Given the description of an element on the screen output the (x, y) to click on. 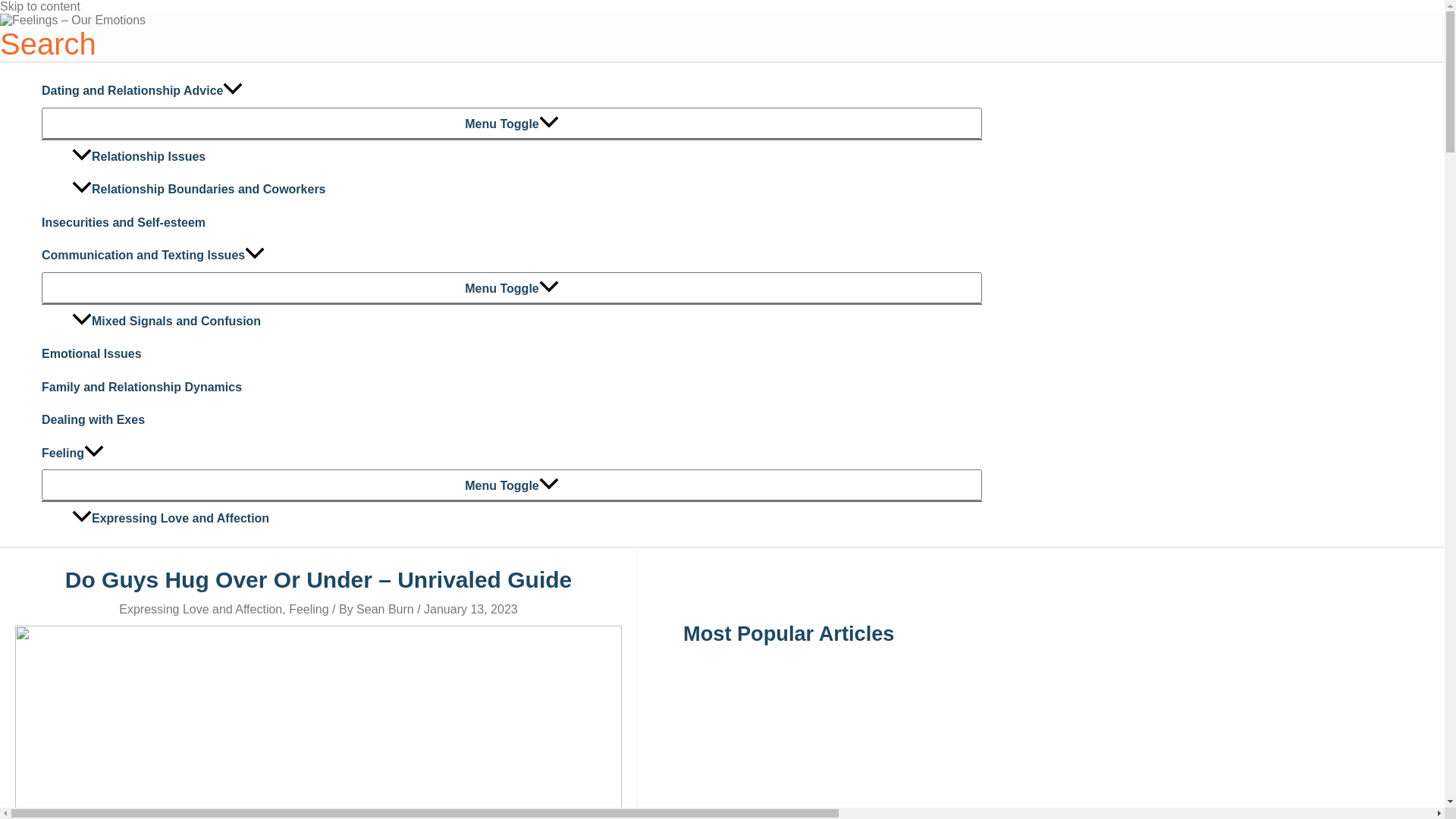
Relationship Issues (526, 156)
View all posts by Sean Burn (386, 608)
Dealing with Exes (511, 419)
Menu Toggle (511, 287)
Expressing Love and Affection (200, 608)
Mixed Signals and Confusion (526, 321)
Skip to content (40, 6)
Sean Burn (386, 608)
Emotional Issues (511, 354)
Feeling (308, 608)
Insecurities and Self-esteem (511, 222)
Communication and Texting Issues (511, 255)
Menu Toggle (511, 122)
Skip to content (40, 6)
Family and Relationship Dynamics (511, 387)
